Given the description of an element on the screen output the (x, y) to click on. 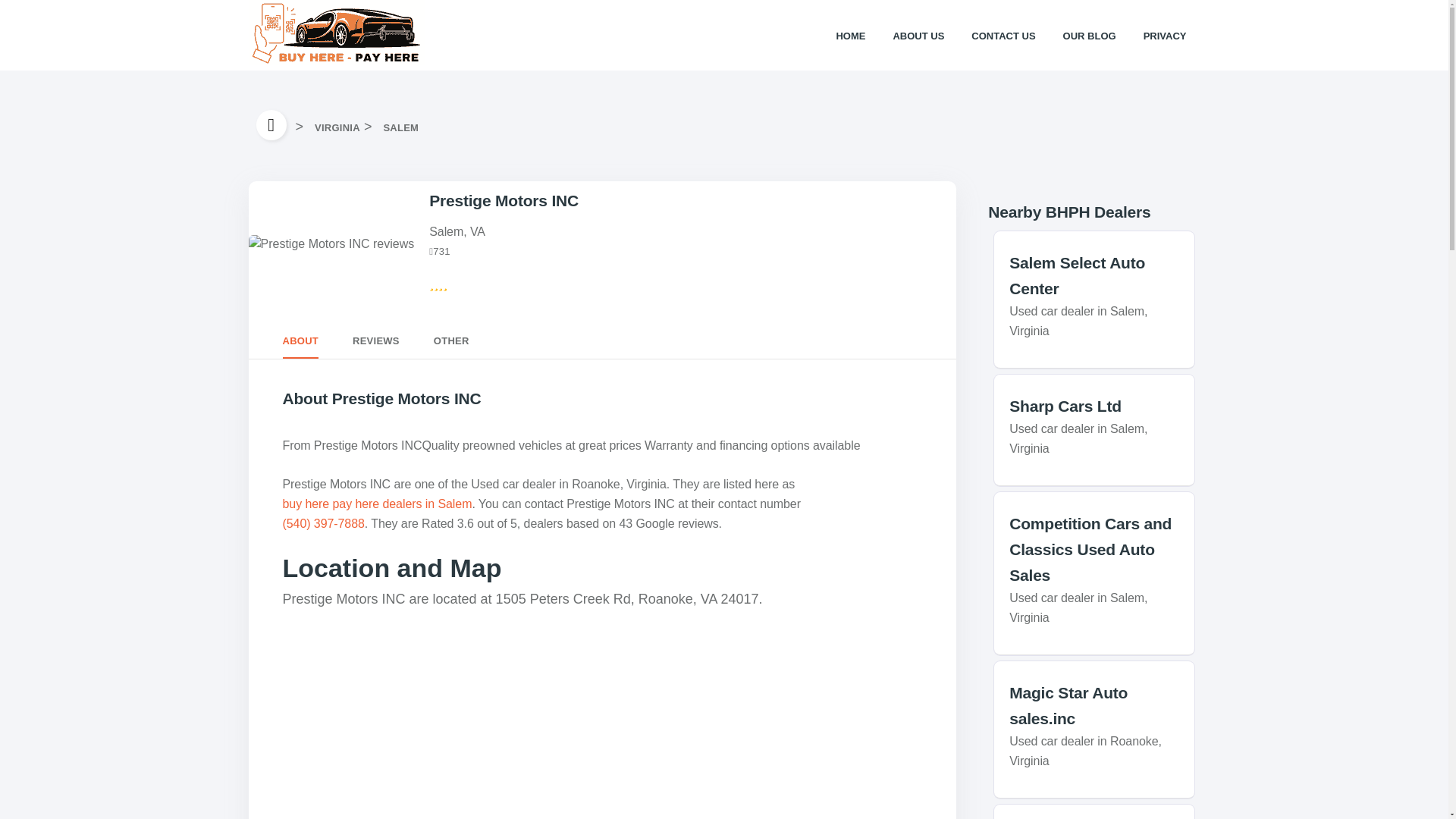
Buy here pay here dealer in Salem (400, 127)
OTHER (450, 341)
Buy here pay here Virginia (336, 127)
buy here pay here dealers in Salem (376, 504)
ABOUT (300, 341)
VIRGINIA (336, 127)
CONTACT US (1003, 35)
Buy here pay here USA (275, 124)
REVIEWS (375, 341)
SALEM (400, 127)
